Given the description of an element on the screen output the (x, y) to click on. 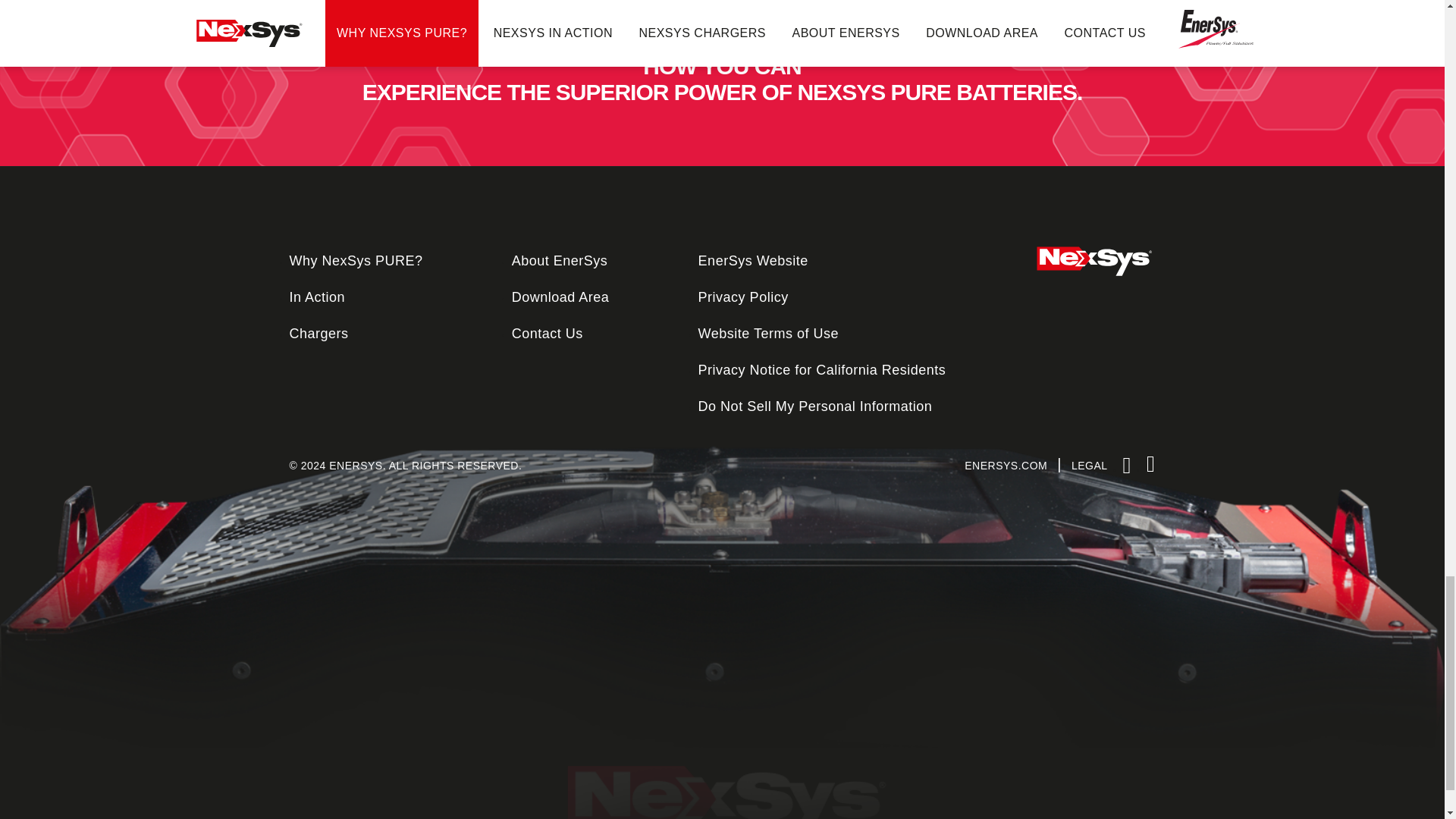
Contact Us (547, 334)
Download Area (561, 297)
Chargers (319, 334)
Website Terms of Use (768, 334)
Privacy Policy (743, 297)
About EnerSys (560, 261)
ENERSYS.COM (1004, 466)
LEGAL (1089, 466)
Why NexSys PURE? (356, 261)
In Action (317, 297)
